Given the description of an element on the screen output the (x, y) to click on. 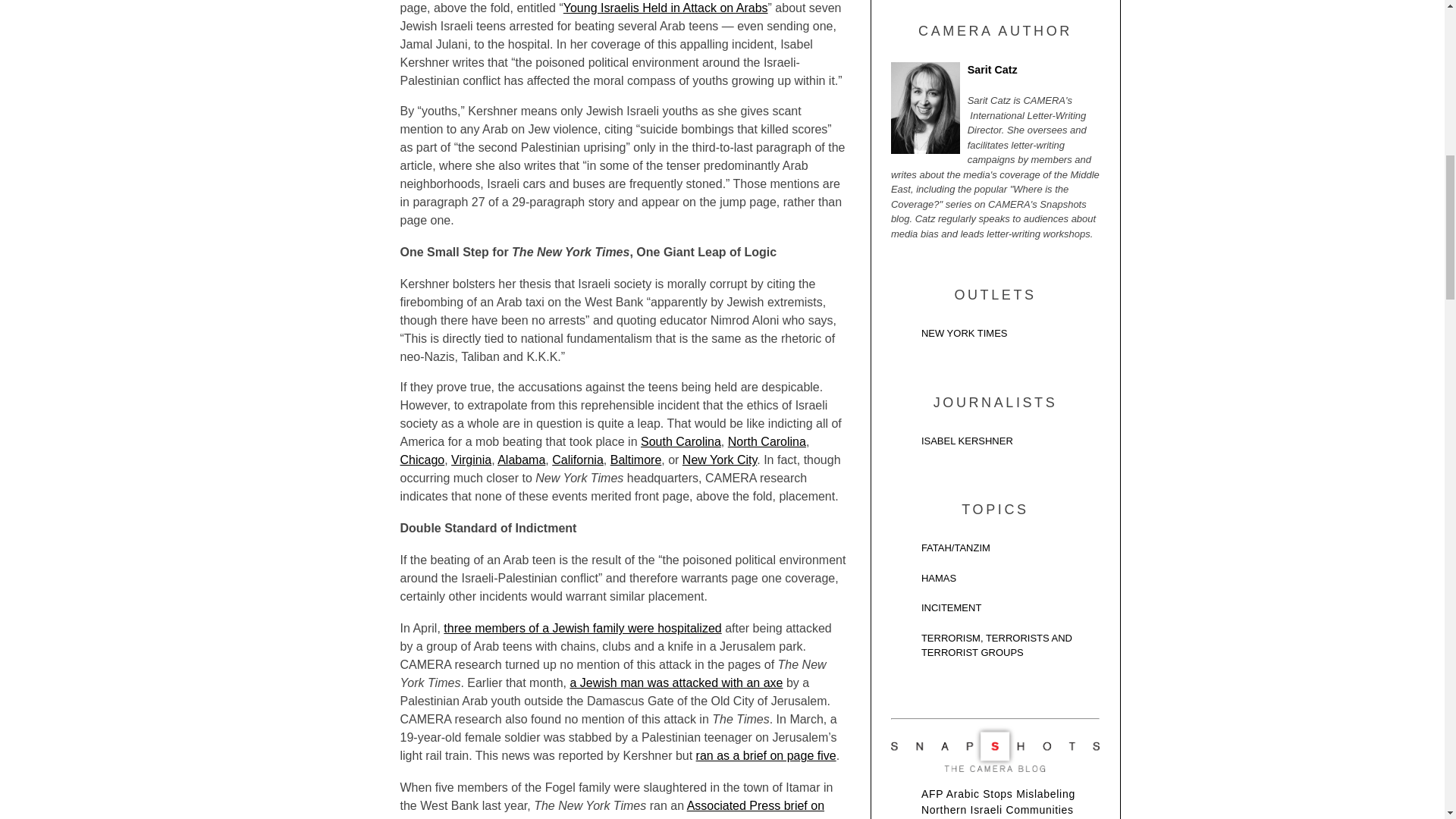
Hamas (995, 581)
New York Times (995, 336)
Sarit Catz (995, 73)
Incitement (995, 611)
Terrorism, Terrorists and Terrorist Groups (995, 649)
Isabel Kershner (995, 445)
